Given the description of an element on the screen output the (x, y) to click on. 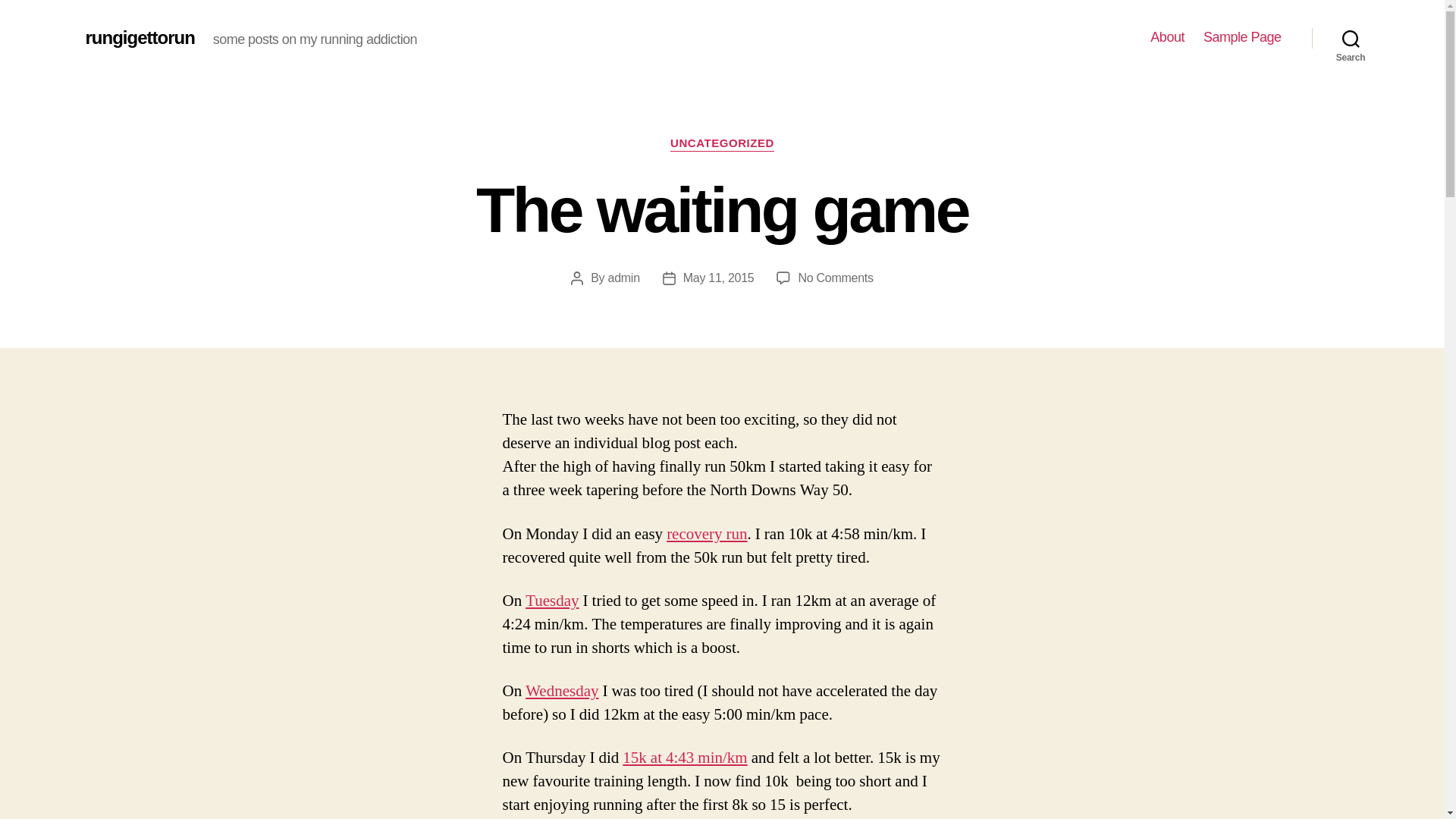
recovery run (706, 534)
May 11, 2015 (718, 277)
About (1167, 37)
Sample Page (1242, 37)
Wednesday (561, 690)
Tuesday (551, 600)
Search (1350, 37)
admin (834, 277)
UNCATEGORIZED (624, 277)
